Given the description of an element on the screen output the (x, y) to click on. 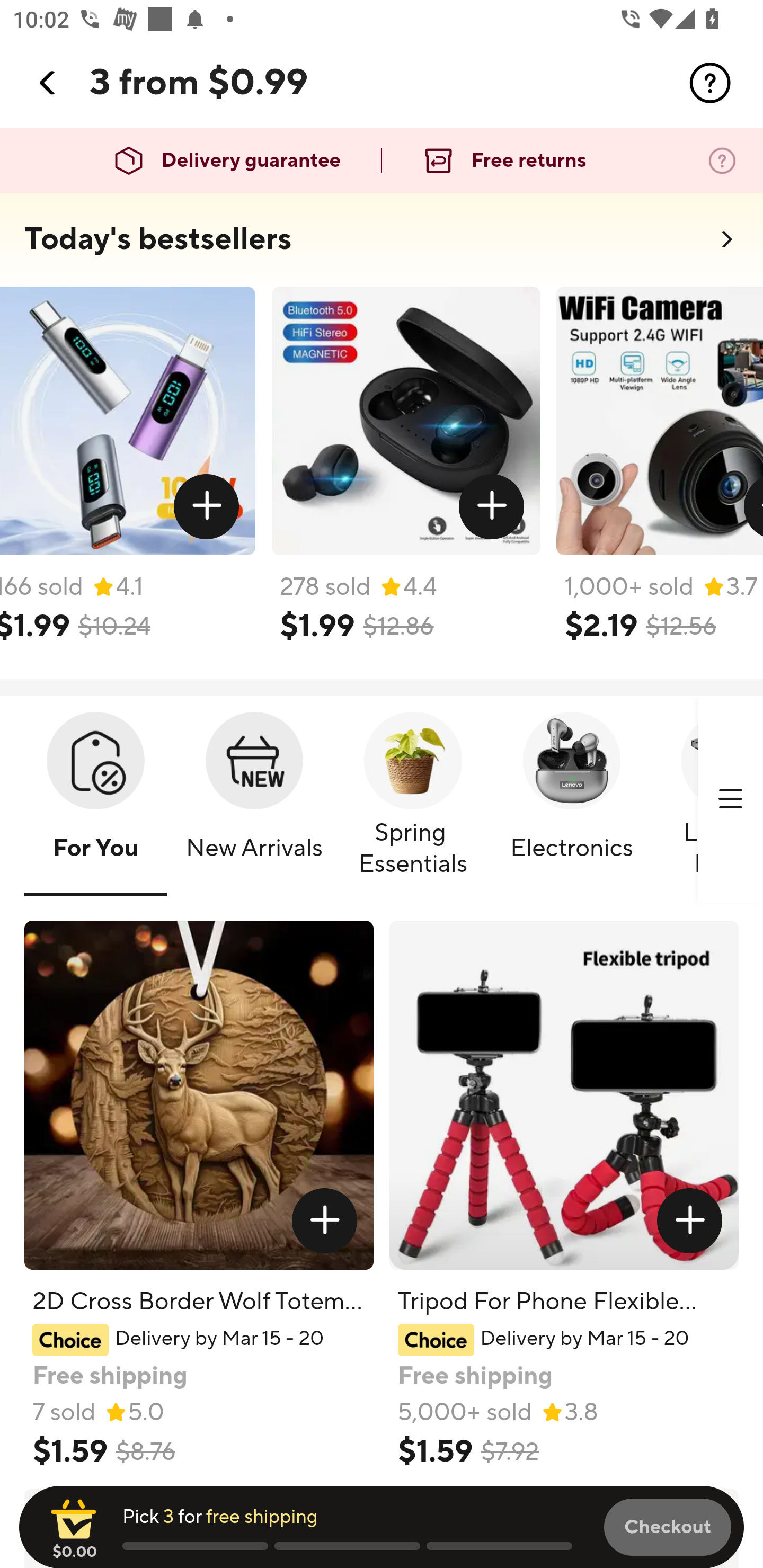
 (710, 82)
 (48, 82)
Today's bestsellers  Today's bestsellers  (381, 244)
Today's bestsellers (157, 239)
 (206, 506)
 (490, 506)
 (730, 799)
144x144.png_ For You (95, 800)
144x144.png_ New Arrivals (254, 800)
200x200.png_ Spring Essentials (412, 800)
300x300.png_ Electronics (571, 800)
 (323, 1220)
 (689, 1220)
